Given the description of an element on the screen output the (x, y) to click on. 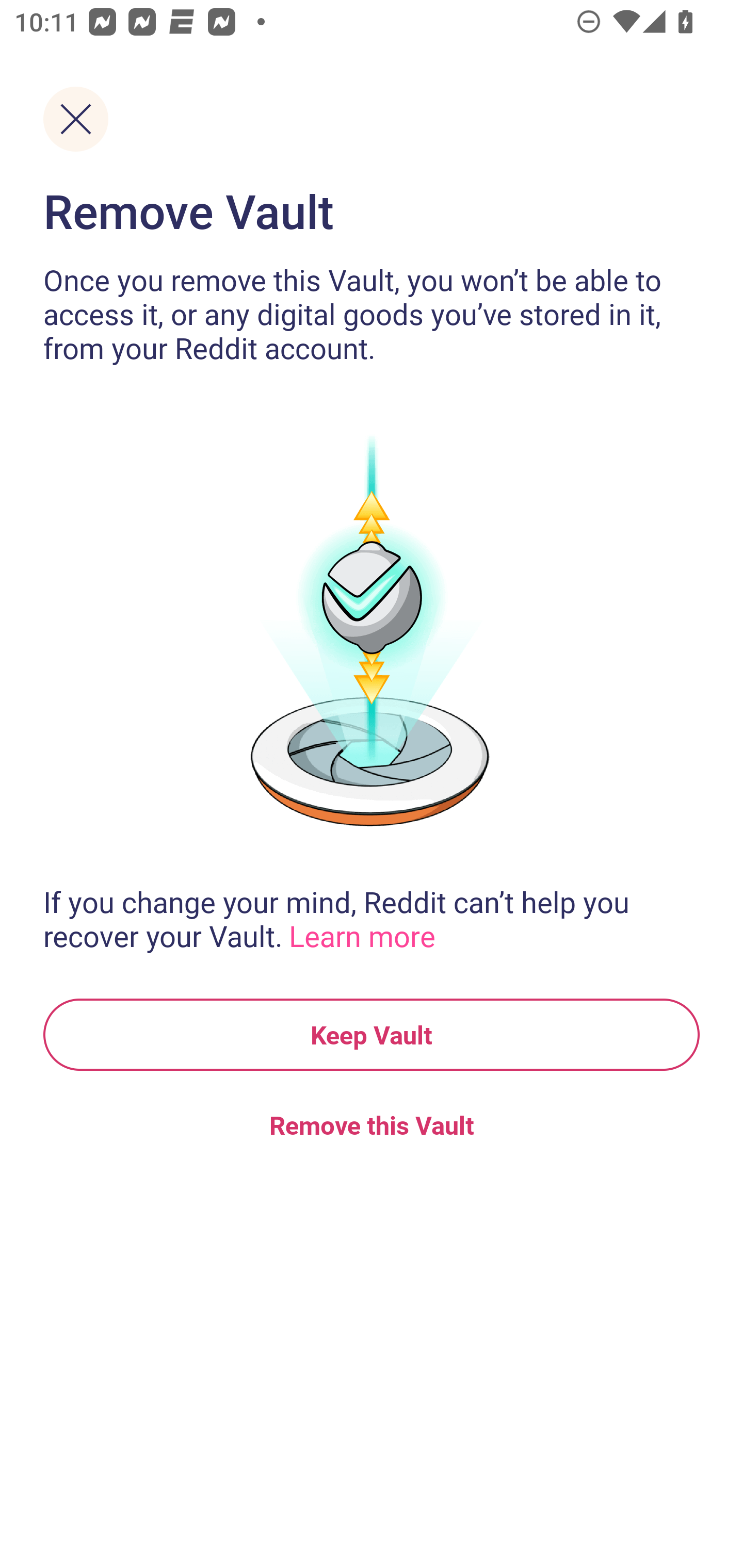
Close (75, 119)
Keep Vault (371, 1034)
Remove this Vault (371, 1124)
